Given the description of an element on the screen output the (x, y) to click on. 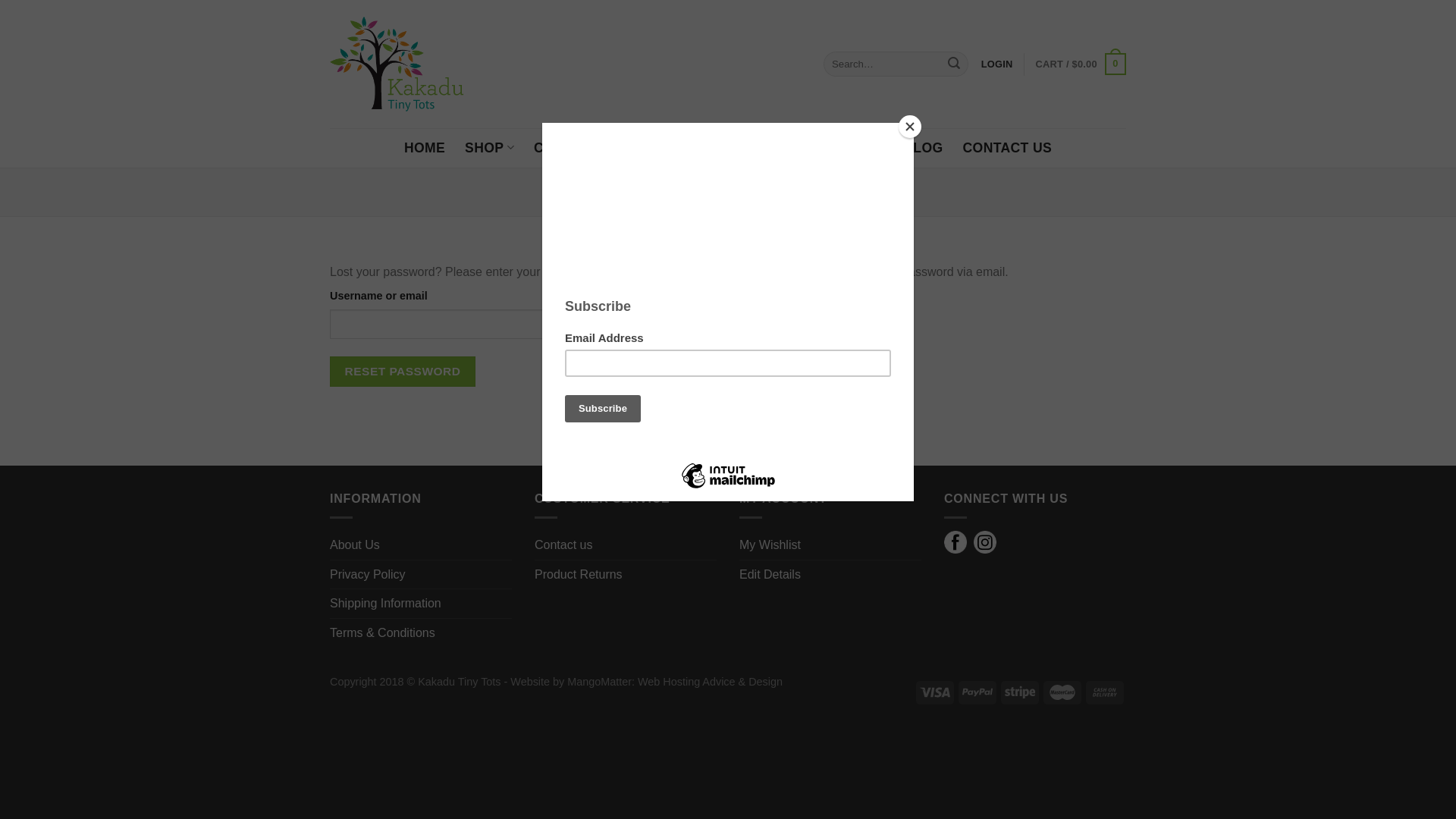
About Us Element type: text (354, 544)
BLOG Element type: text (922, 147)
SHOP Element type: text (489, 147)
MangoMatter Element type: text (599, 681)
ABOUT US Element type: text (725, 147)
HOME Element type: text (424, 147)
Terms & Conditions Element type: text (382, 632)
CART / $0.00
0 Element type: text (1080, 64)
LOGIN Element type: text (997, 63)
Shipping Information Element type: text (385, 603)
CORPORATE GIFTS Element type: text (599, 147)
My Wishlist Element type: text (769, 544)
CONTACT US Element type: text (1007, 147)
Product Returns Element type: text (578, 574)
Skip to content Element type: text (0, 0)
ECO SELLERS Element type: text (834, 147)
Privacy Policy Element type: text (367, 574)
Contact us Element type: text (563, 544)
Kakadu Tiny Tots - Authentic Aboriginal Children's Boutique Element type: hover (397, 63)
Edit Details Element type: text (769, 574)
RESET PASSWORD Element type: text (402, 370)
